Given the description of an element on the screen output the (x, y) to click on. 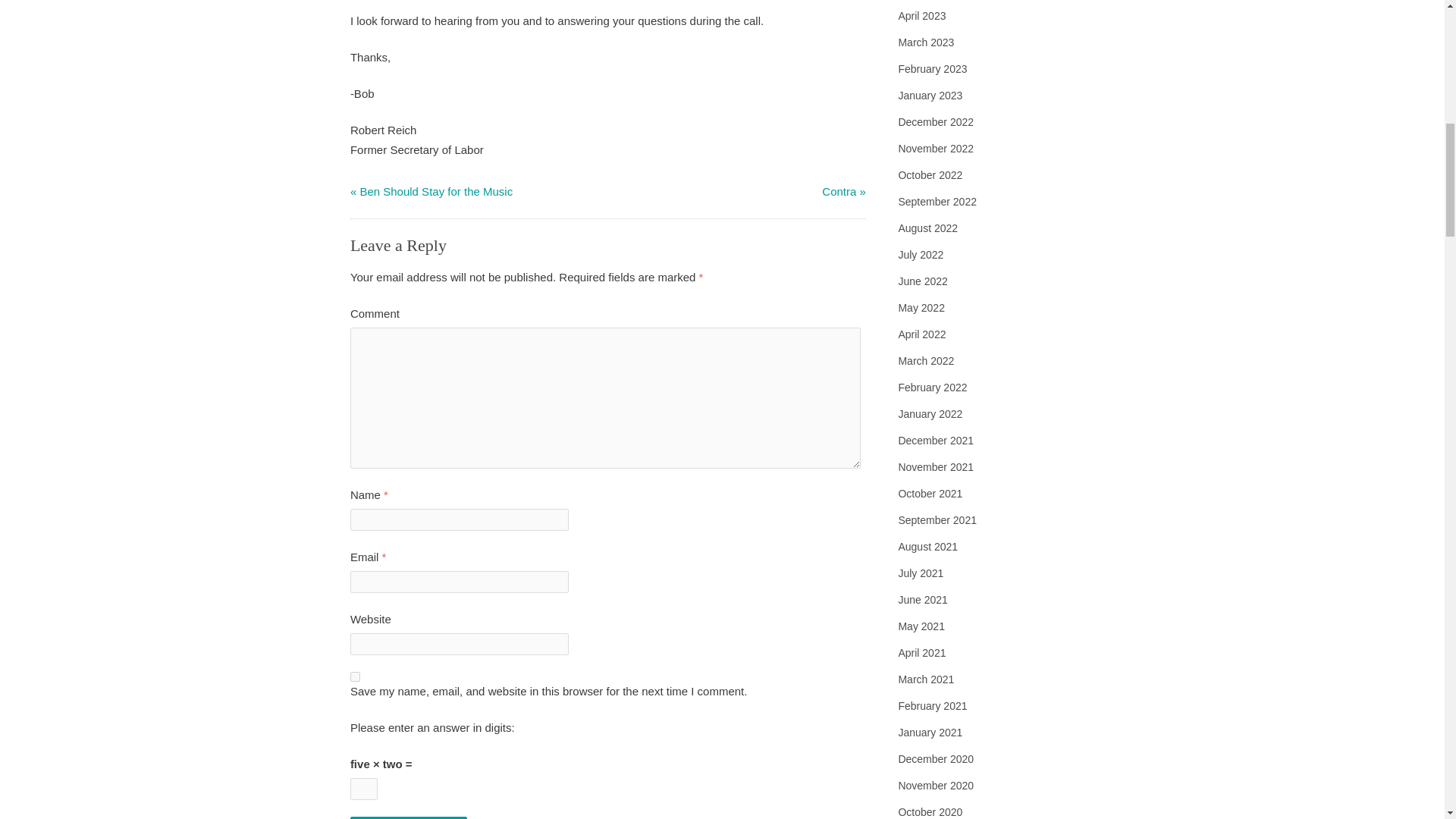
yes (354, 676)
Ben Should Stay for the Music (435, 191)
Post Comment (408, 817)
